Given the description of an element on the screen output the (x, y) to click on. 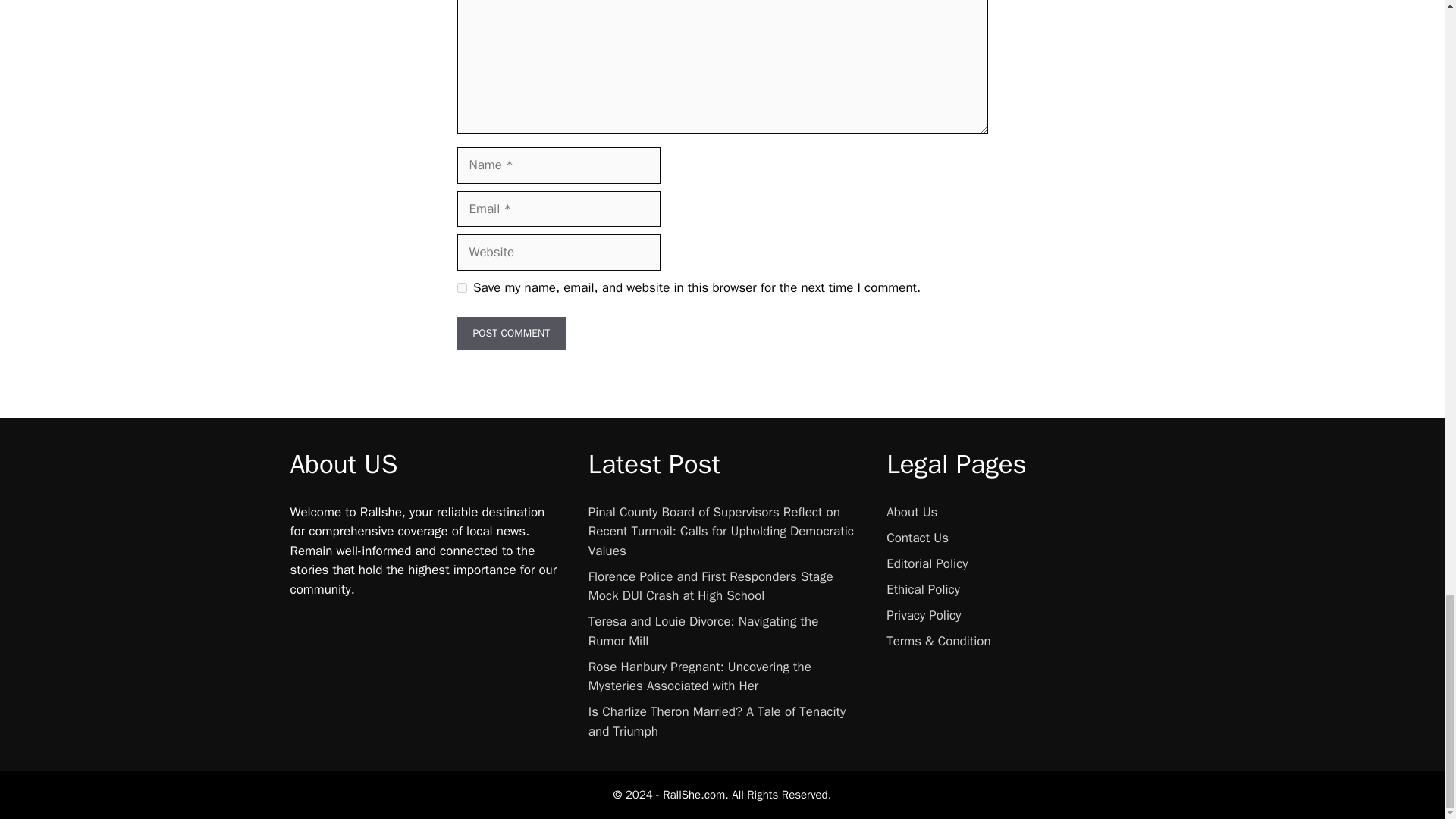
Privacy Policy (923, 615)
Post Comment (511, 332)
Contact Us (917, 537)
yes (461, 287)
Teresa and Louie Divorce: Navigating the Rumor Mill (703, 631)
Is Charlize Theron Married? A Tale of Tenacity and Triumph (716, 721)
Ethical Policy (922, 589)
Post Comment (511, 332)
About Us (911, 512)
Editorial Policy (927, 563)
